Given the description of an element on the screen output the (x, y) to click on. 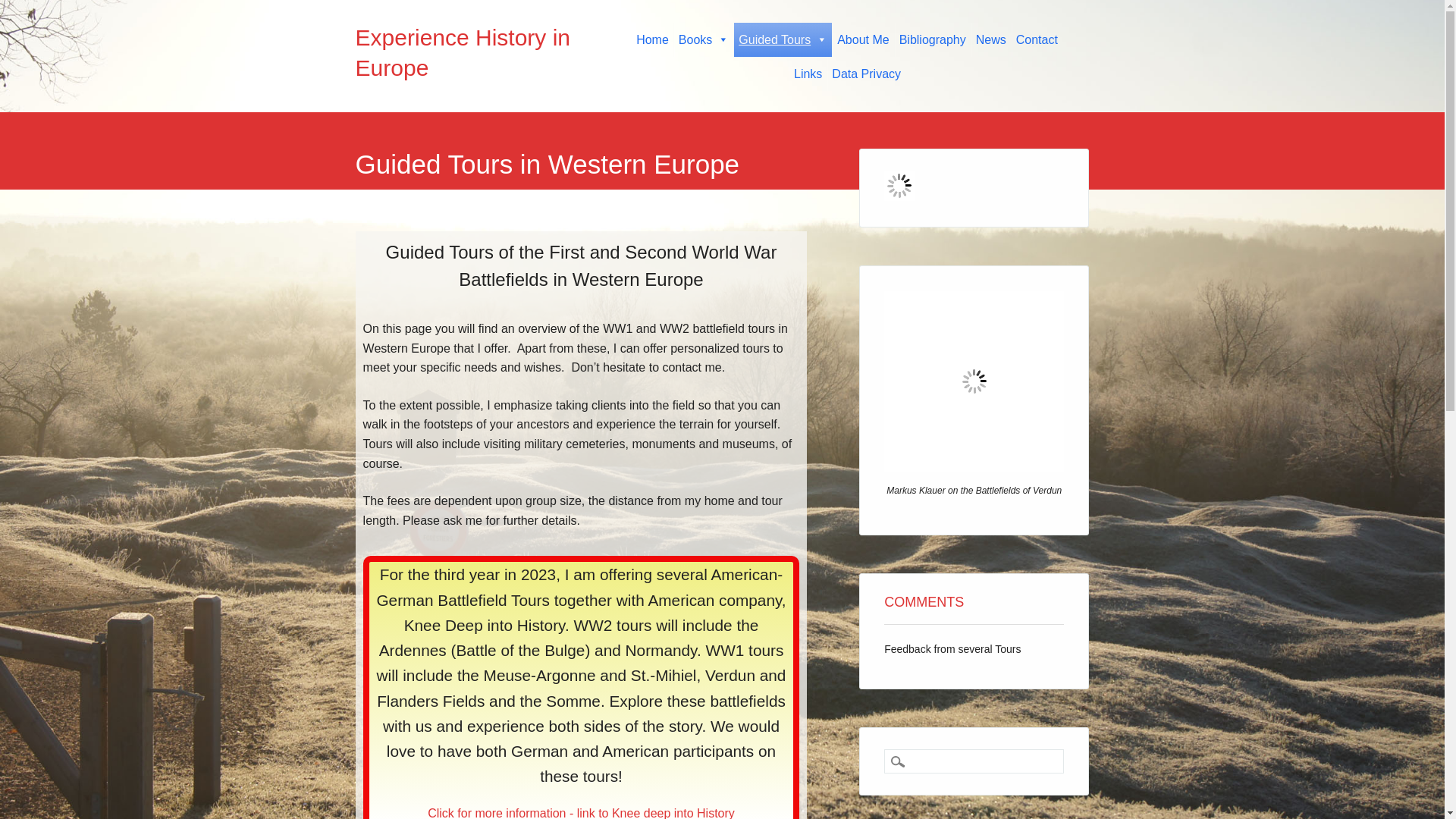
Experience History in Europe (462, 52)
Click for more information - link to Knee deep into History (581, 811)
News (990, 39)
Guided Tours (782, 39)
Experience History in Europe (462, 52)
Books (703, 39)
Home (651, 39)
About Me (862, 39)
Bibliography (933, 39)
Contact (1036, 39)
